Given the description of an element on the screen output the (x, y) to click on. 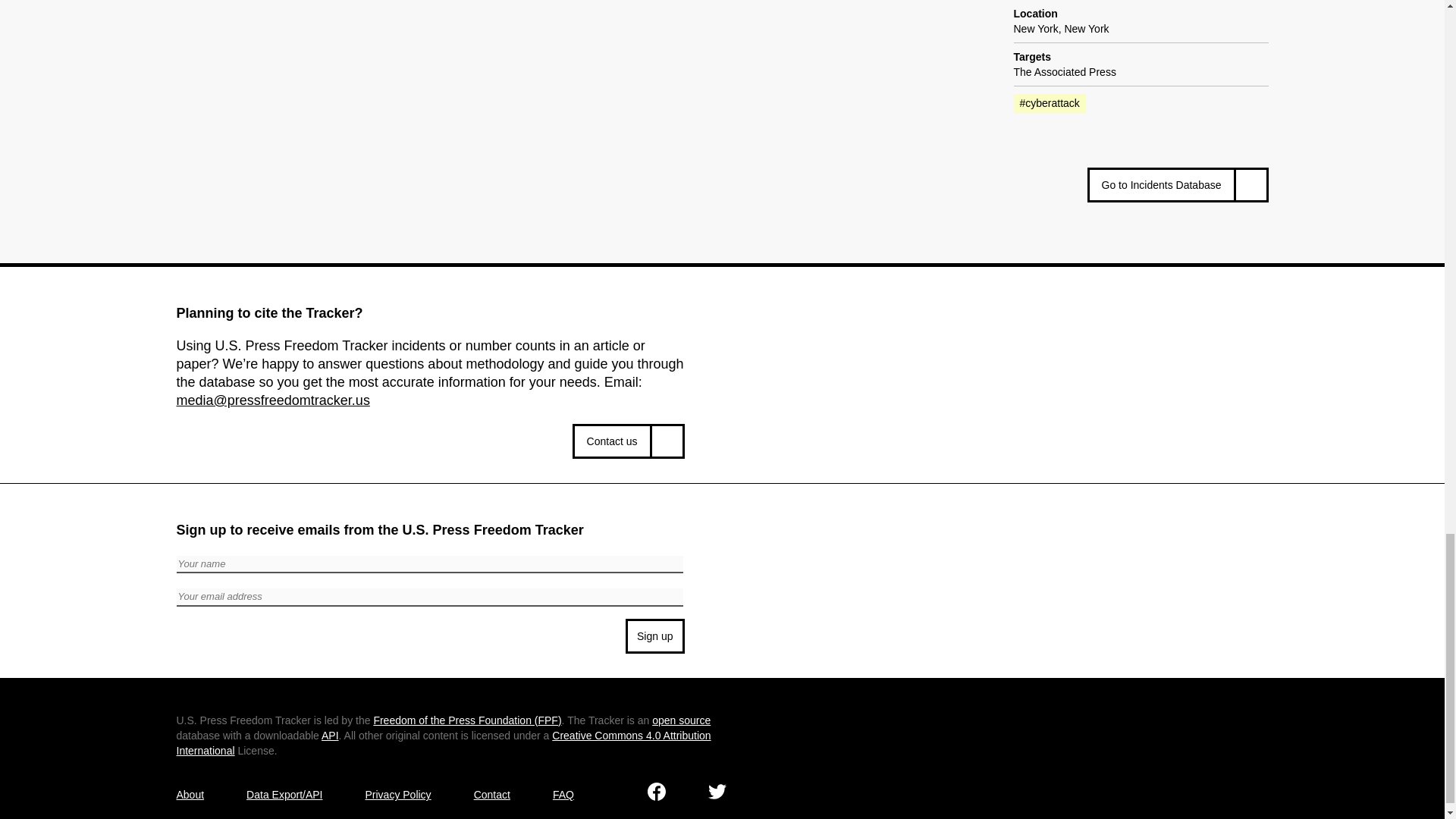
Go to Incidents Database (1177, 184)
Contact us (628, 441)
Sign up (655, 636)
